Given the description of an element on the screen output the (x, y) to click on. 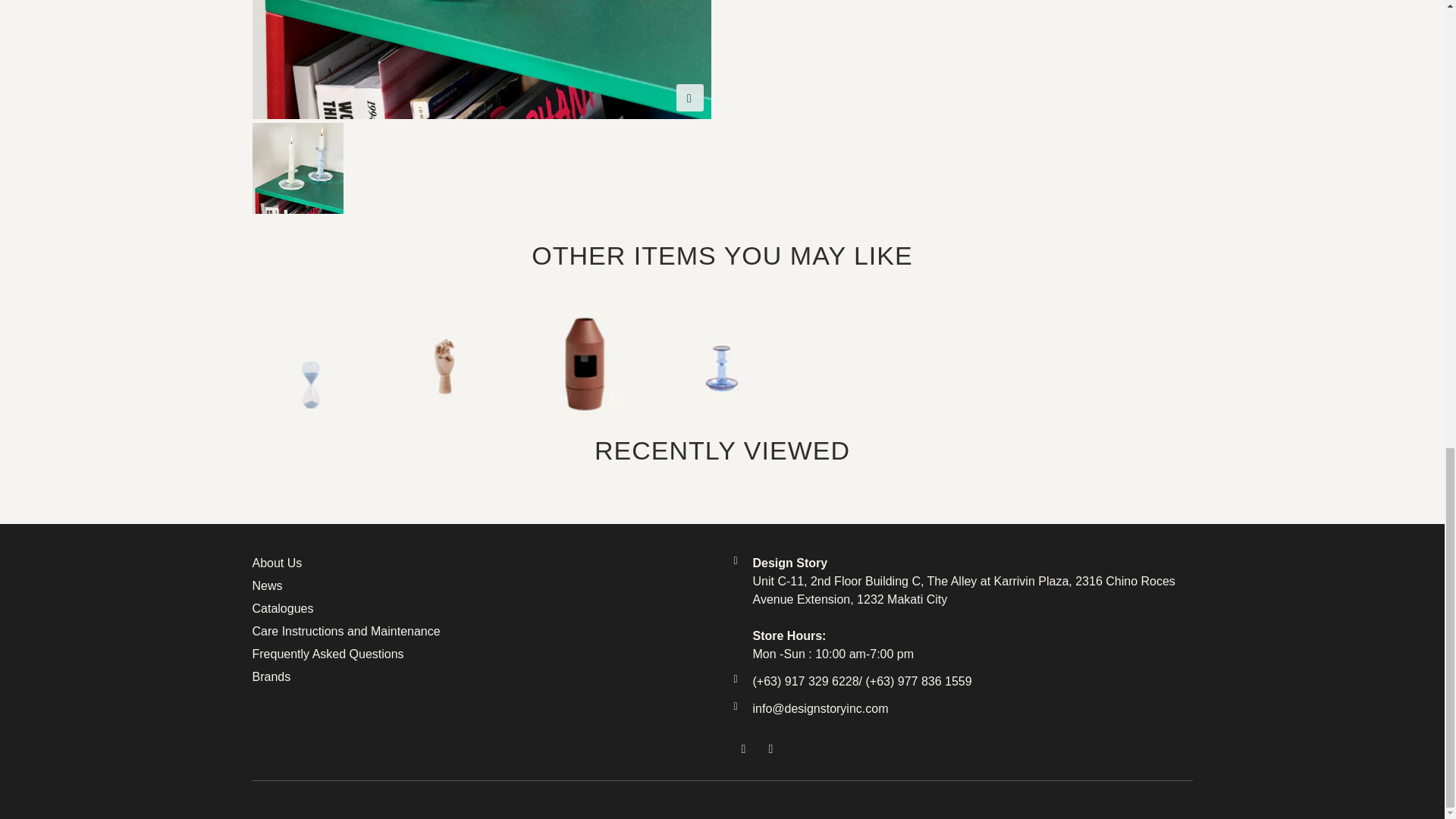
Zoom (690, 97)
